Given the description of an element on the screen output the (x, y) to click on. 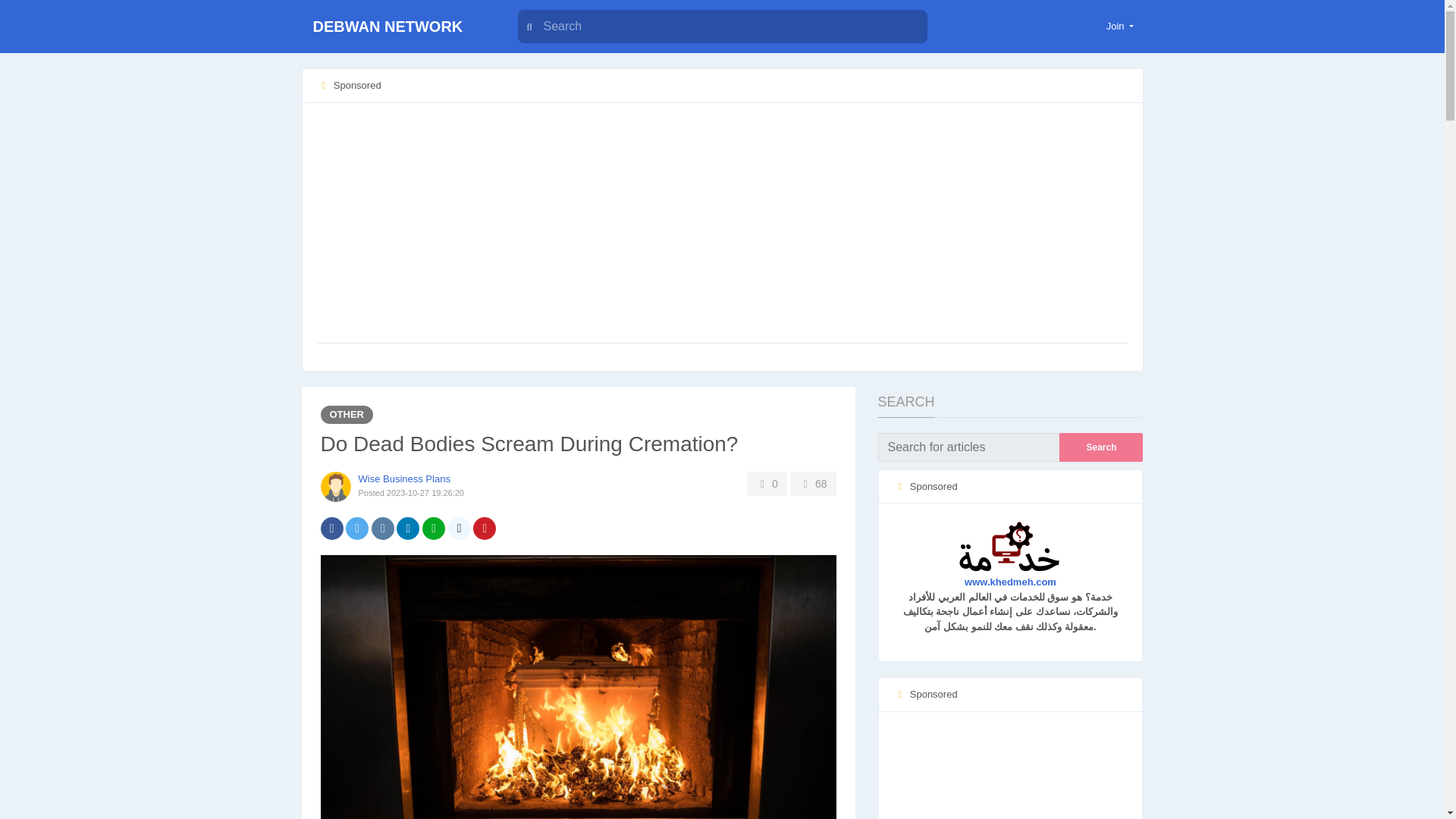
Join (1119, 26)
OTHER (346, 413)
Search (1100, 446)
0 (766, 483)
Advertisement (1009, 772)
Wise Business Plans (403, 478)
DEBWAN NETWORK (396, 26)
www.khedmeh.com (1010, 563)
